Given the description of an element on the screen output the (x, y) to click on. 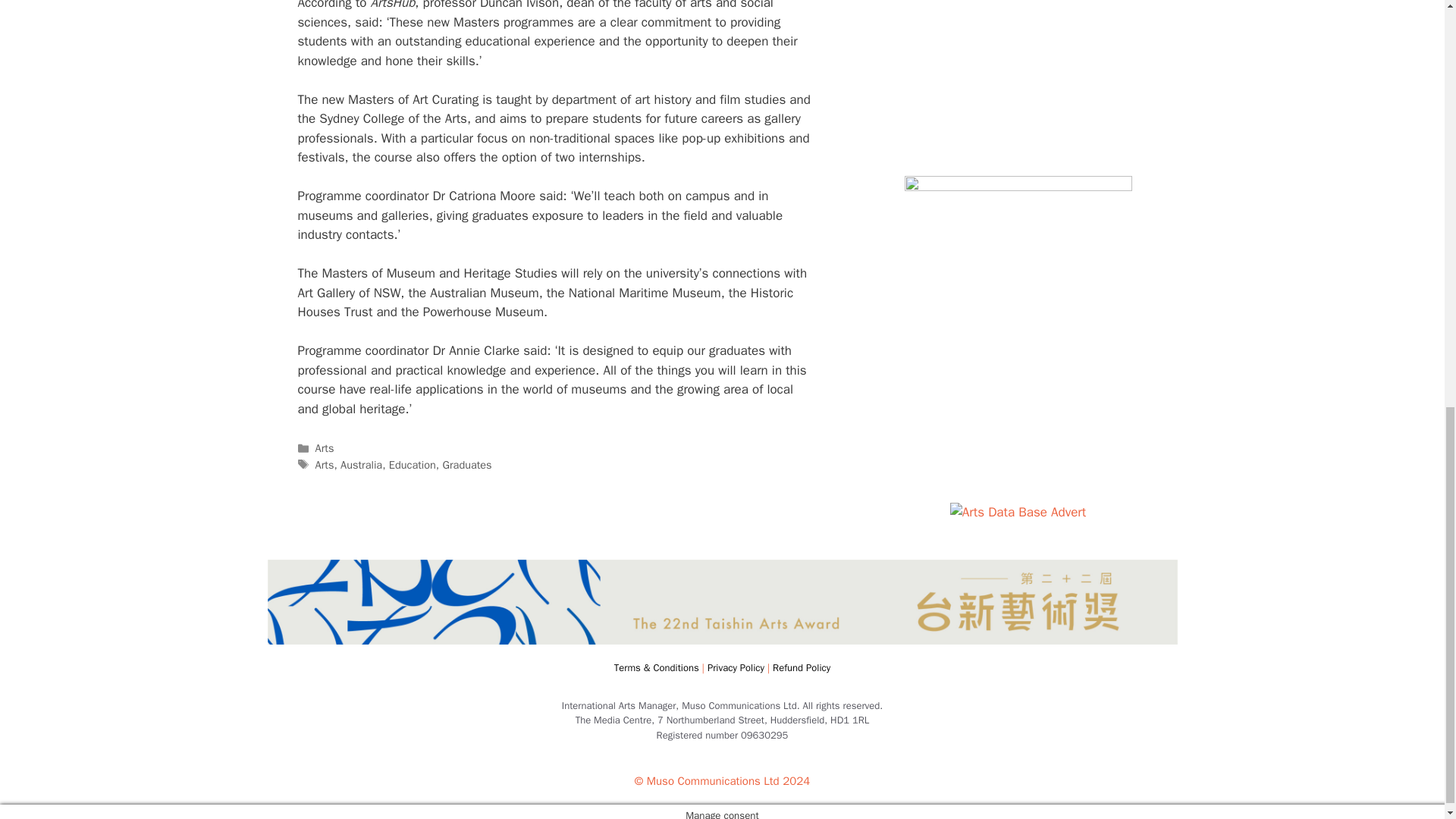
Arts (324, 464)
Australia (360, 464)
Education (411, 464)
Graduates (467, 464)
Privacy Policy (735, 667)
Arts (324, 448)
Scroll back to top (1406, 720)
Refund Policy (801, 667)
